Given the description of an element on the screen output the (x, y) to click on. 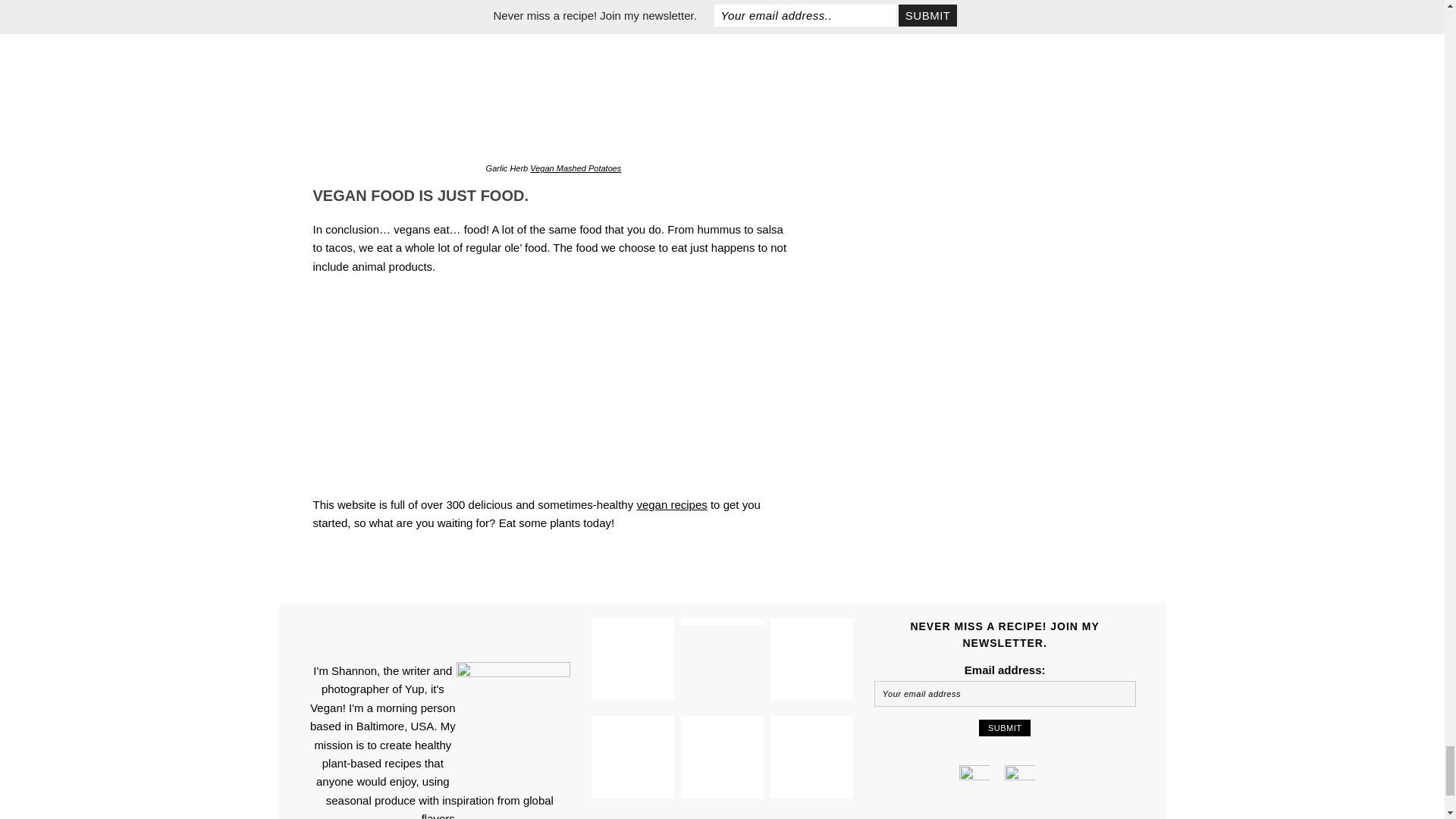
Submit (1004, 727)
